Given the description of an element on the screen output the (x, y) to click on. 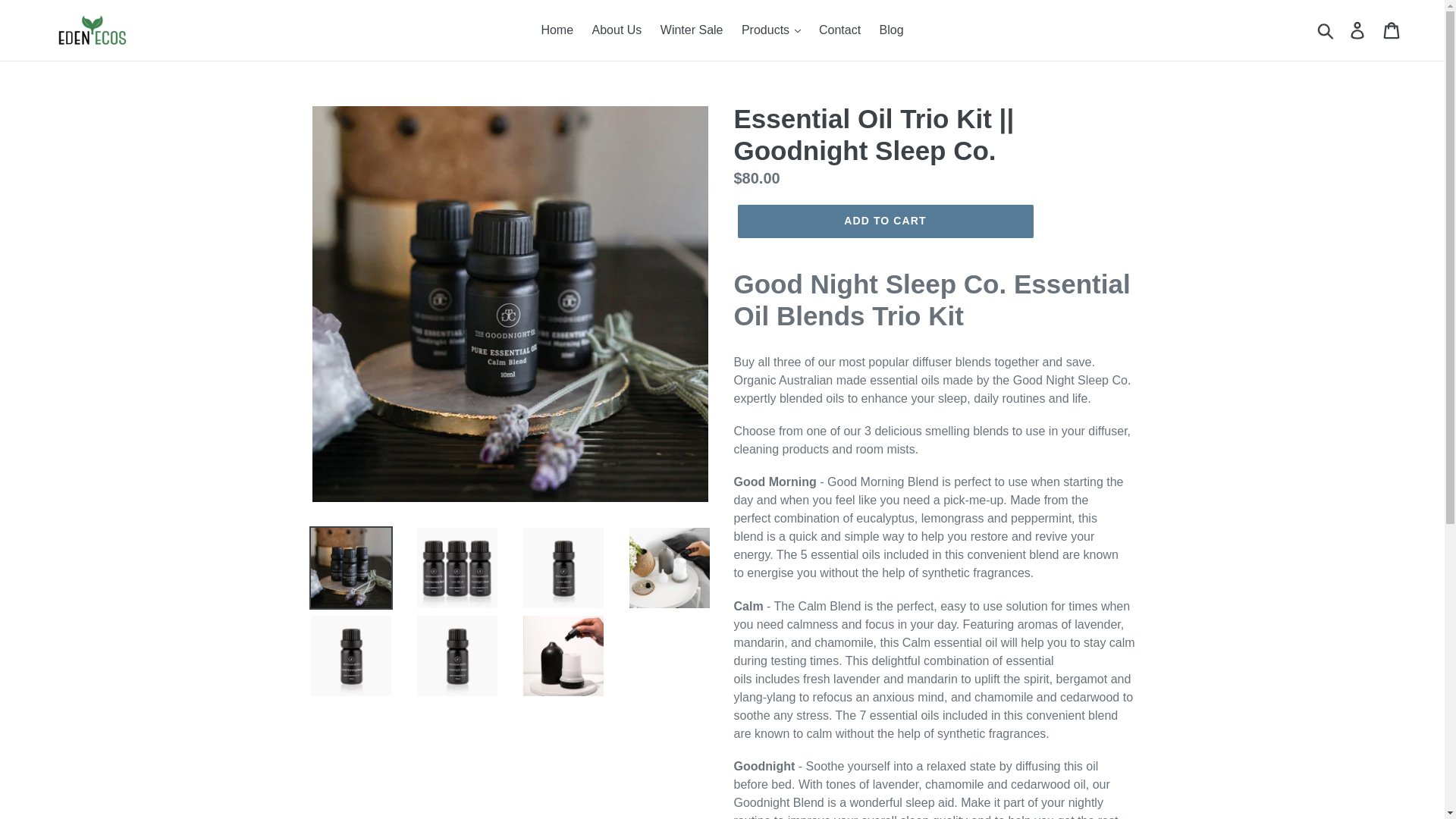
Submit (1326, 29)
Log in (1357, 29)
Cart (1392, 29)
Home (556, 29)
Blog (891, 29)
Contact (838, 29)
Winter Sale (691, 29)
About Us (617, 29)
